Given the description of an element on the screen output the (x, y) to click on. 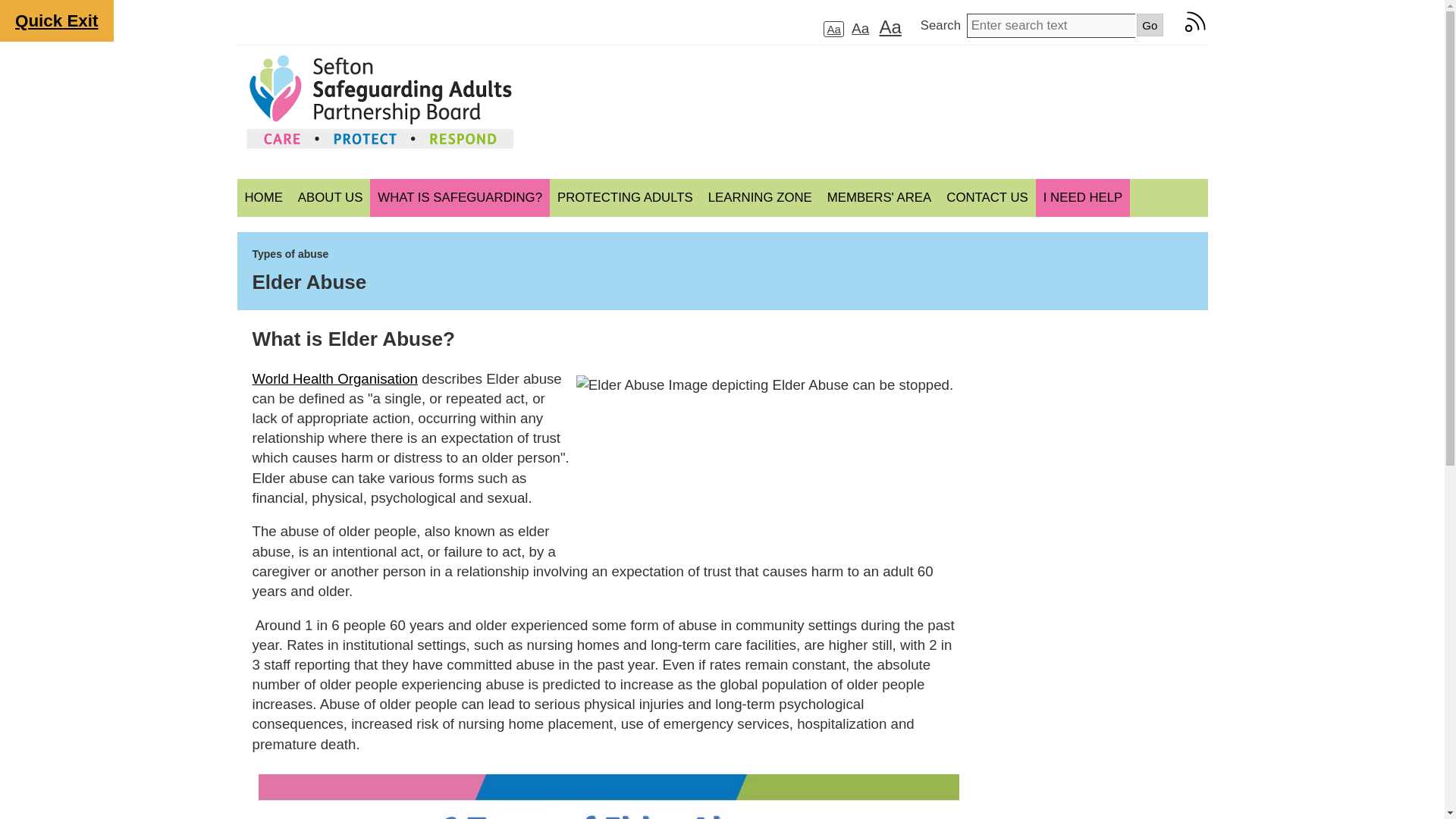
PROTECTING ADULTS (625, 198)
Make the text size large (889, 26)
CONTACT US (987, 198)
LEARNING ZONE (759, 198)
Aa (833, 28)
Quick Exit (56, 20)
Make the text size small (833, 28)
World Health Organisation (333, 378)
ABOUT US (329, 198)
Aa (859, 27)
